Given the description of an element on the screen output the (x, y) to click on. 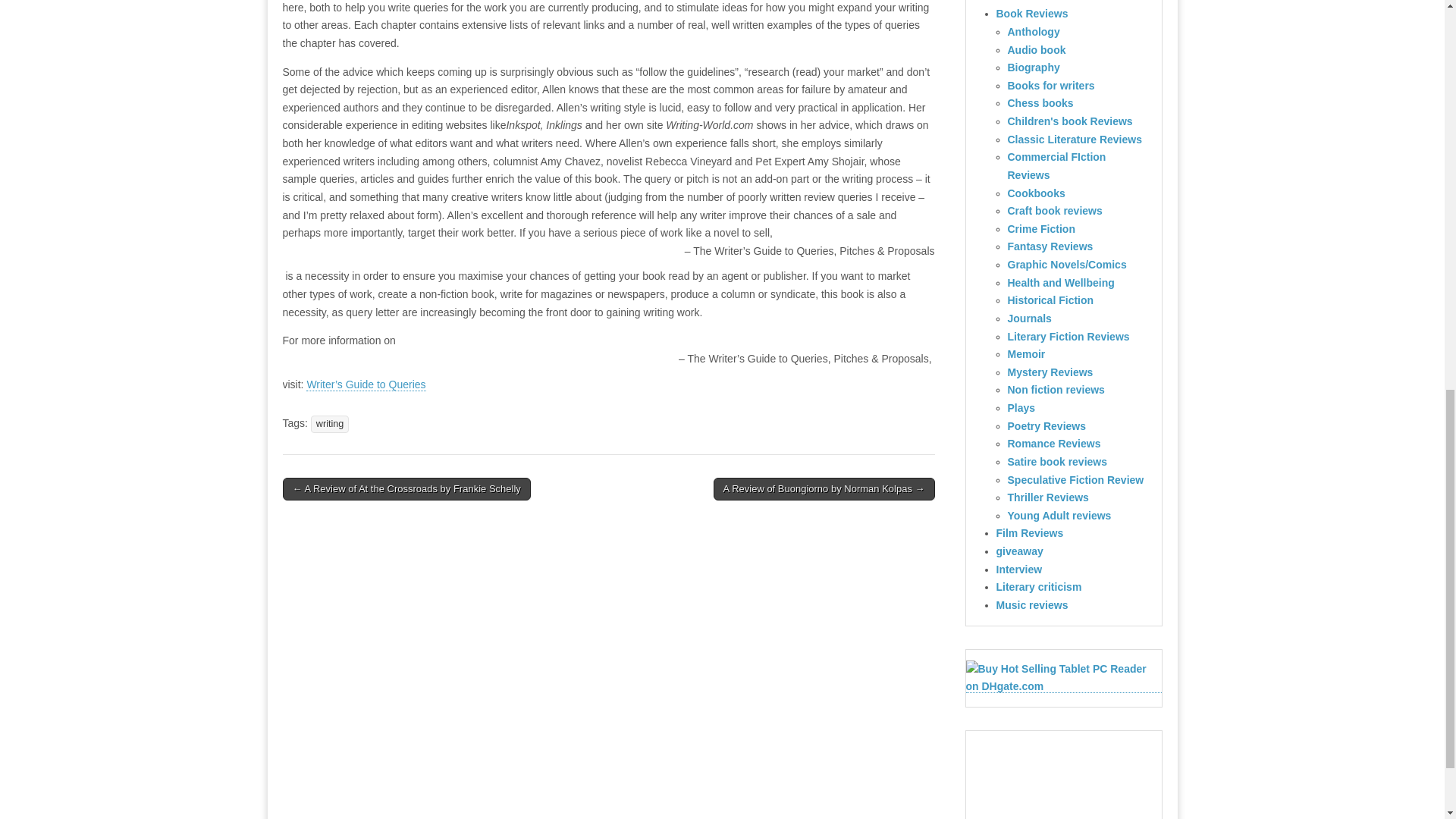
Cookbooks (1035, 193)
writing (330, 424)
Crime Fiction (1040, 228)
Commercial FIction Reviews (1056, 165)
Chess books (1040, 102)
Anthology (1033, 31)
Fantasy Reviews (1050, 246)
Books for writers (1050, 85)
Audio book (1036, 50)
Author interviews (1040, 1)
Book Reviews (1031, 13)
Health and Wellbeing (1060, 282)
Children's book Reviews (1069, 121)
Biography (1033, 67)
